Given the description of an element on the screen output the (x, y) to click on. 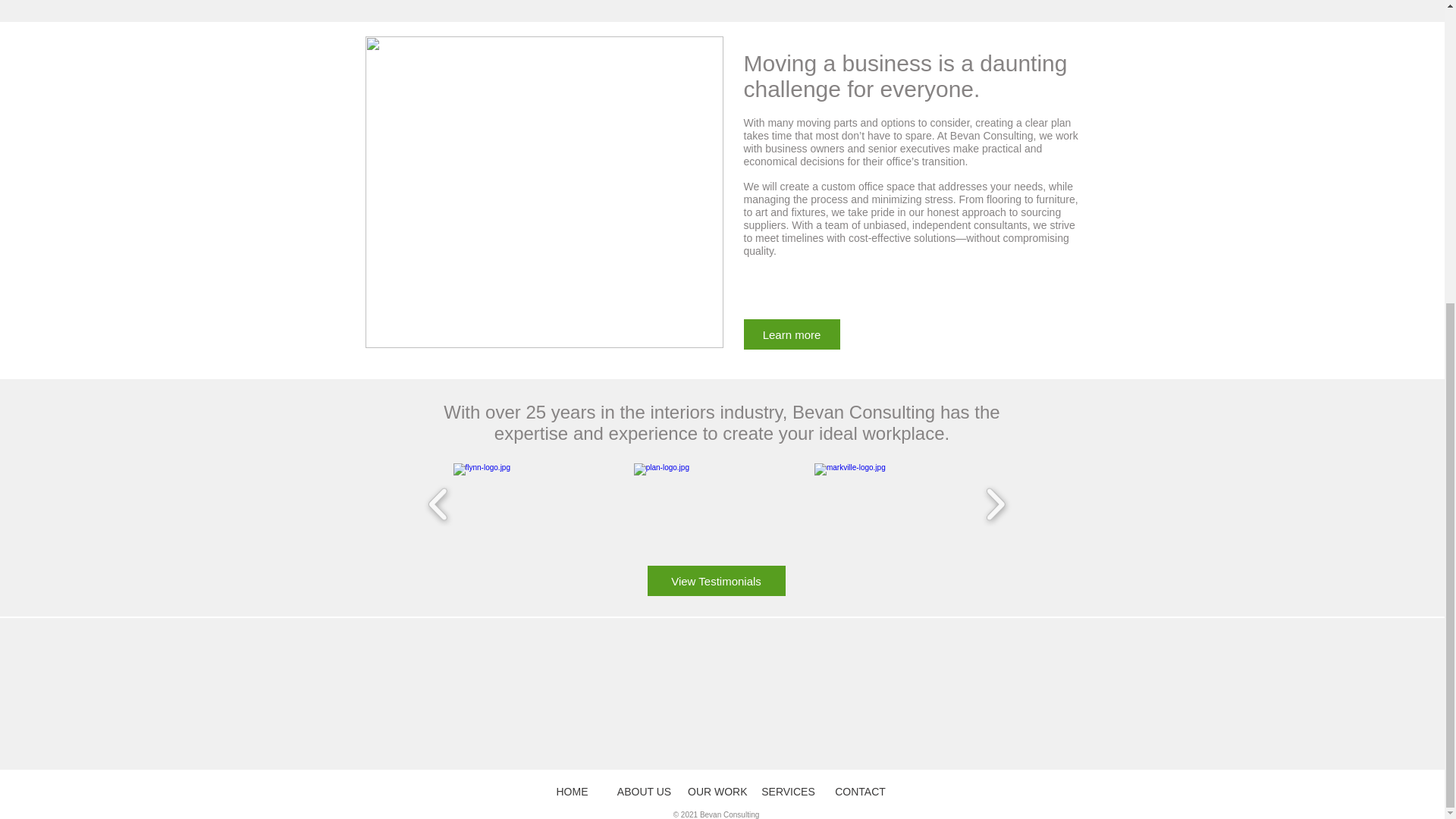
HOME (571, 791)
ABOUT US (643, 791)
View Testimonials (716, 580)
OUR WORK (715, 791)
SERVICES (788, 791)
CONTACT (860, 791)
Learn more (791, 334)
